Given the description of an element on the screen output the (x, y) to click on. 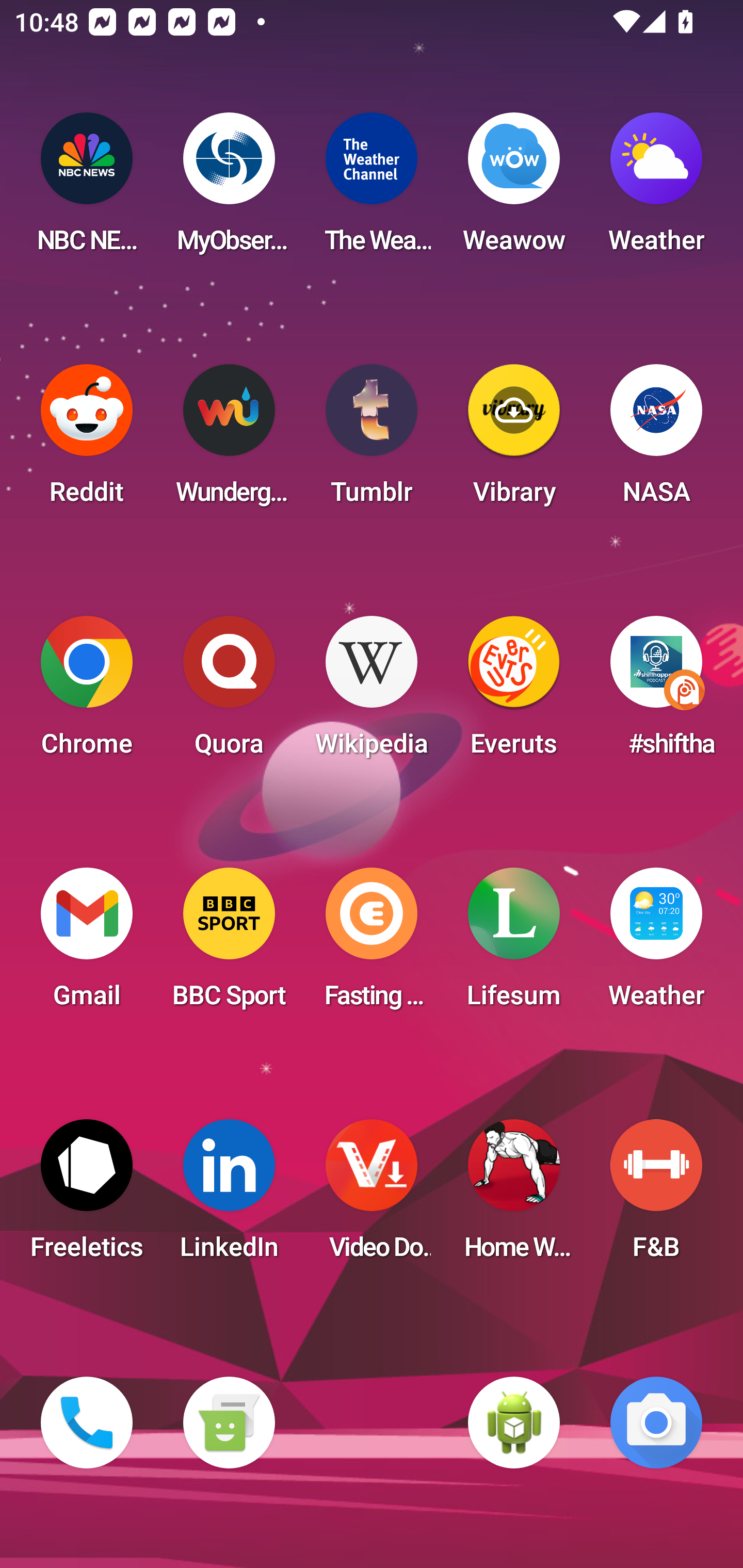
NBC NEWS (86, 188)
MyObservatory (228, 188)
The Weather Channel (371, 188)
Weawow (513, 188)
Weather (656, 188)
Reddit (86, 440)
Wunderground (228, 440)
Tumblr (371, 440)
Vibrary (513, 440)
NASA (656, 440)
Chrome (86, 692)
Quora (228, 692)
Wikipedia (371, 692)
Everuts (513, 692)
#shifthappens in the Digital Workplace Podcast (656, 692)
Gmail (86, 943)
BBC Sport (228, 943)
Fasting Coach (371, 943)
Lifesum (513, 943)
Weather (656, 943)
Freeletics (86, 1195)
LinkedIn (228, 1195)
Video Downloader & Ace Player (371, 1195)
Home Workout (513, 1195)
F&B (656, 1195)
Phone (86, 1422)
Messaging (228, 1422)
WebView Browser Tester (513, 1422)
Camera (656, 1422)
